Given the description of an element on the screen output the (x, y) to click on. 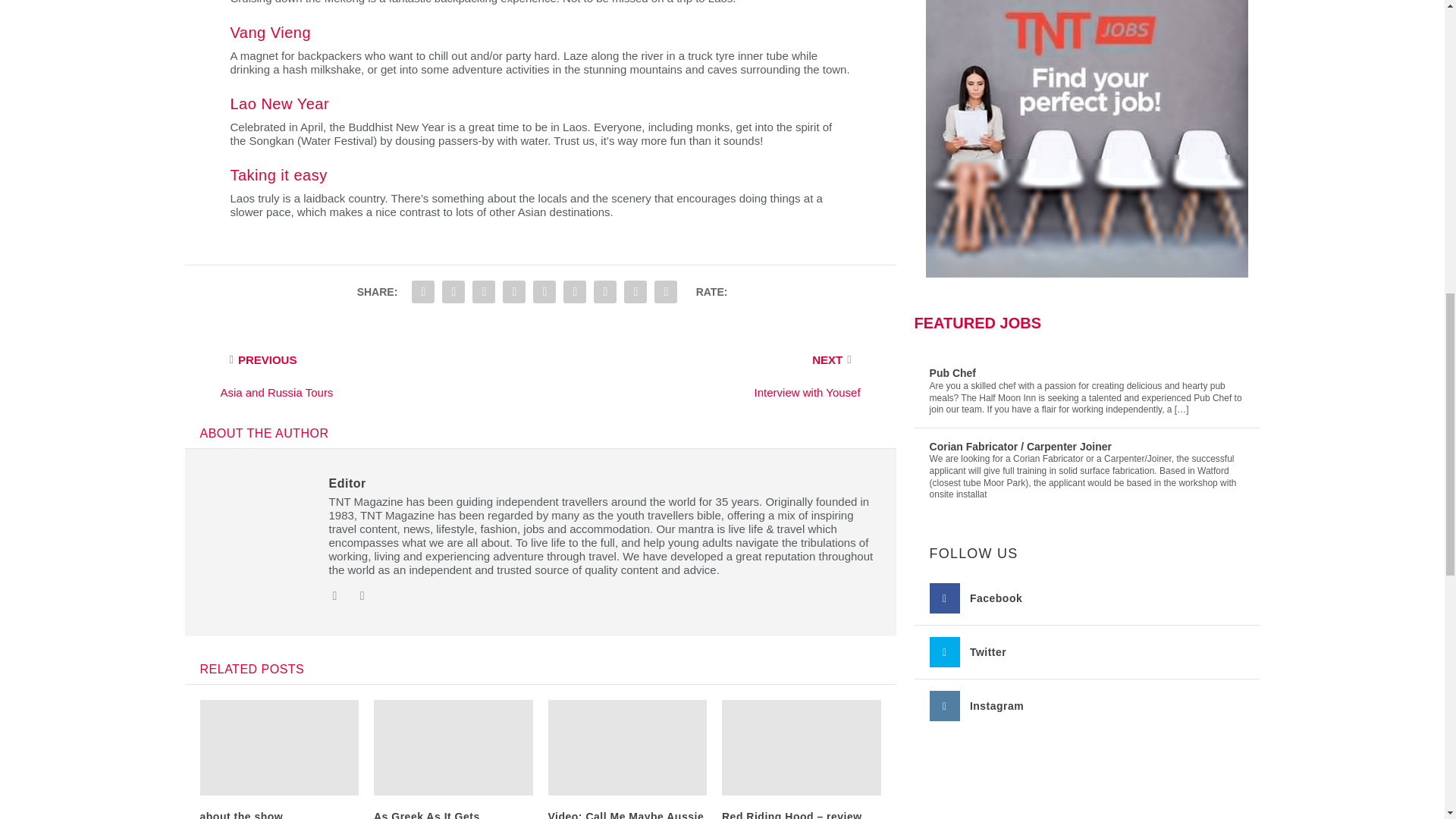
about the show (241, 814)
Share "Laos Highlights" via Email (635, 291)
Share "Laos Highlights" via Facebook (422, 291)
Video: Call Me Maybe Aussie bogan parody goes viral (625, 814)
Share "Laos Highlights" via Stumbleupon (604, 291)
Share "Laos Highlights" via Pinterest (514, 291)
Editor (347, 482)
Share "Laos Highlights" via LinkedIn (544, 291)
Share "Laos Highlights" via Buffer (574, 291)
Share "Laos Highlights" via Twitter (453, 291)
